Given the description of an element on the screen output the (x, y) to click on. 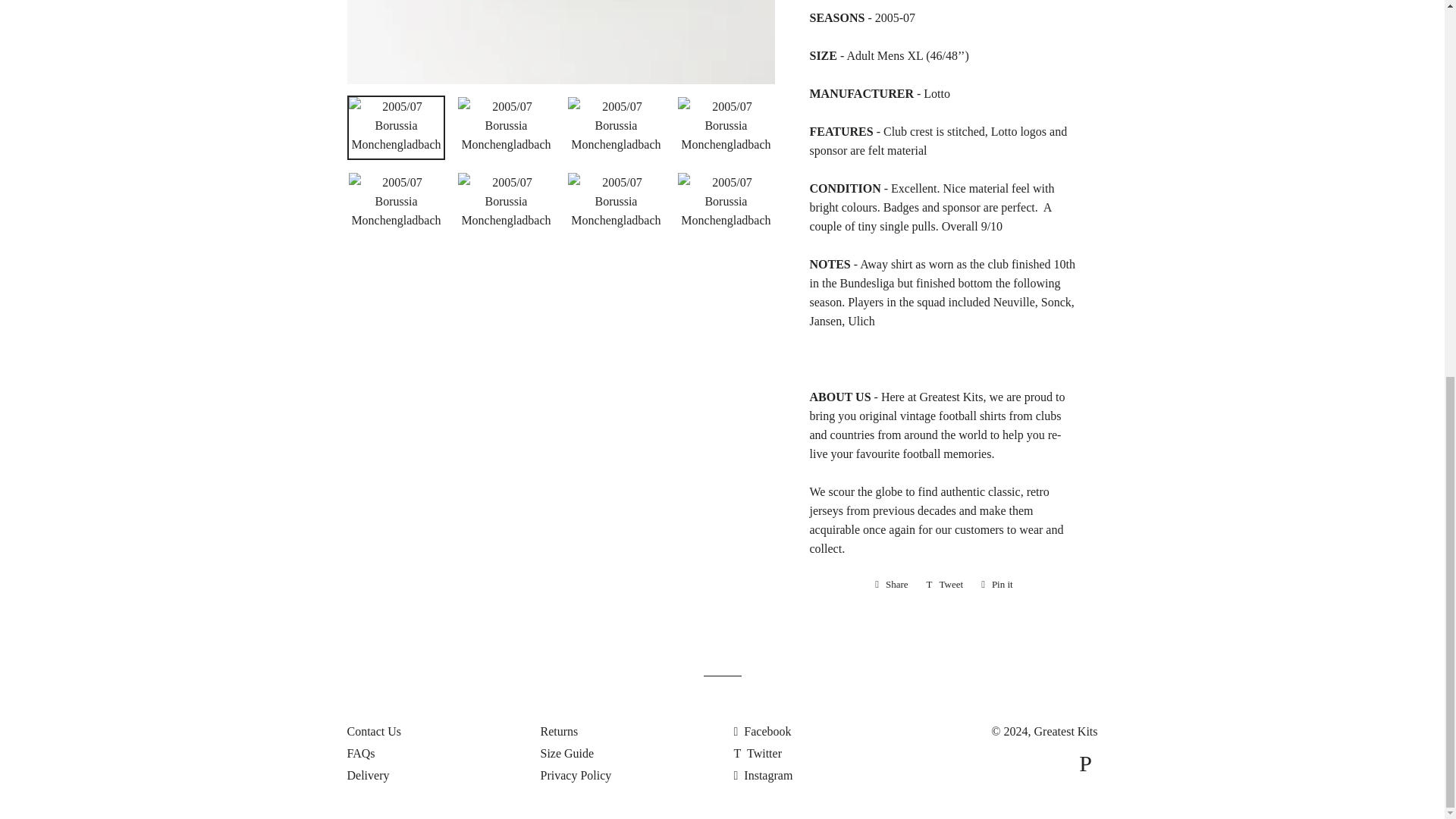
Tweet on Twitter (944, 584)
Share on Facebook (891, 584)
Greatest Kits on Instagram (763, 775)
Greatest Kits on Facebook (762, 730)
Greatest Kits on Twitter (757, 753)
Pin on Pinterest (997, 584)
